Given the description of an element on the screen output the (x, y) to click on. 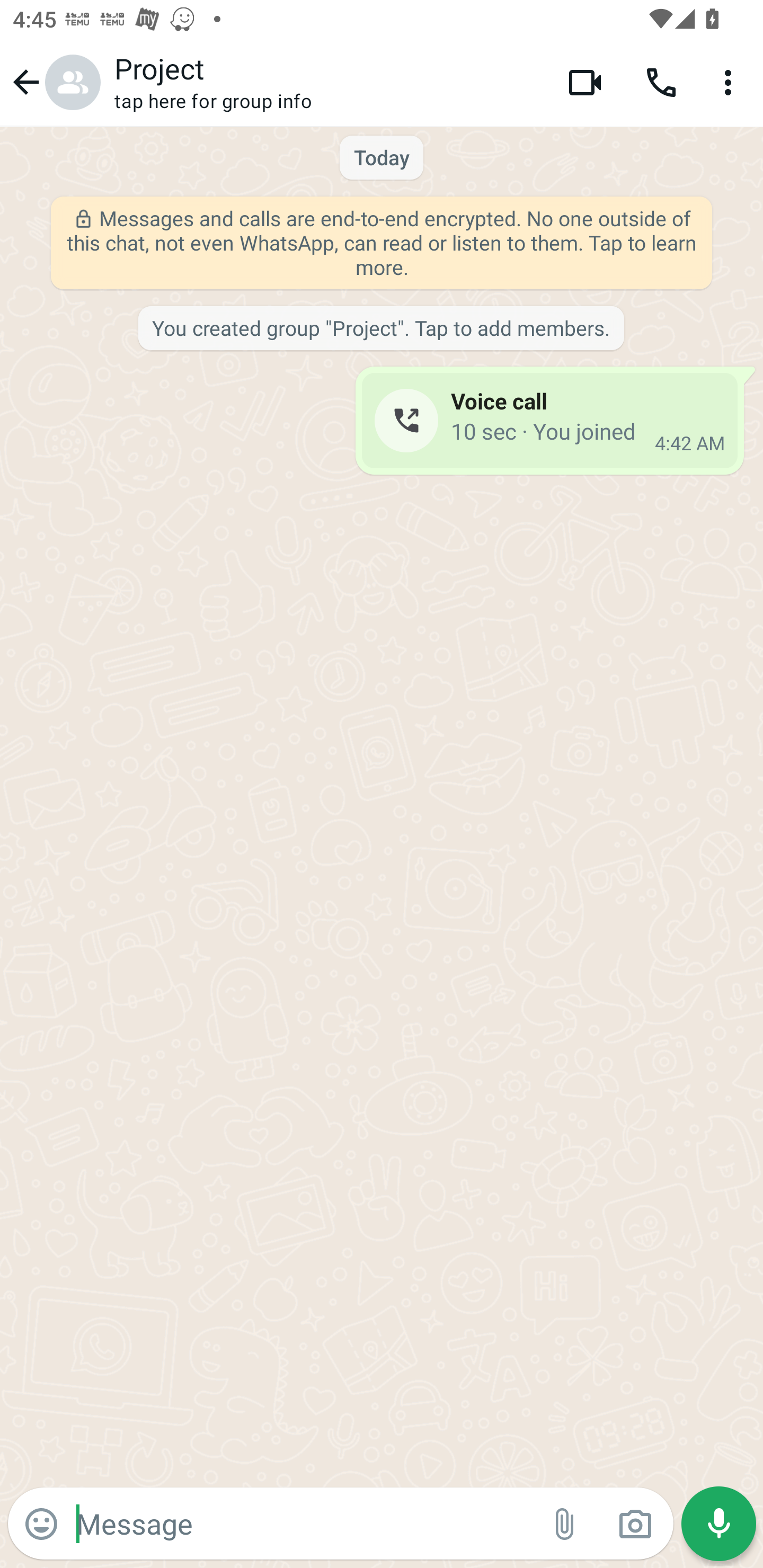
Project tap here for group info (327, 82)
Navigate up (54, 82)
Video call (585, 81)
Voice call (661, 81)
More options (731, 81)
You created group "Project". Tap to add members. (381, 329)
Emoji (41, 1523)
Attach (565, 1523)
Camera (634, 1523)
Message (303, 1523)
